Given the description of an element on the screen output the (x, y) to click on. 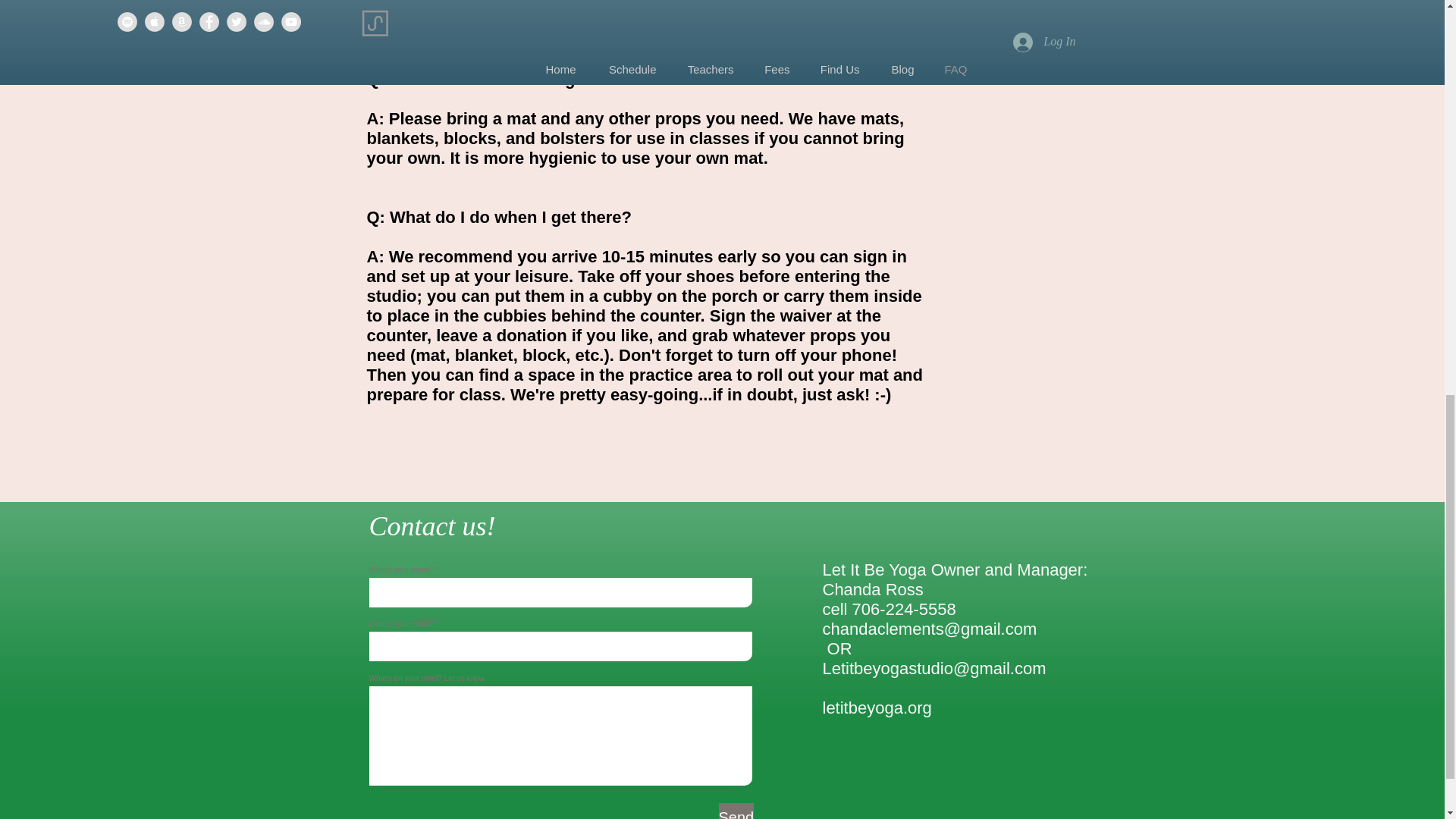
Send (736, 811)
Wix.com (610, 711)
